Given the description of an element on the screen output the (x, y) to click on. 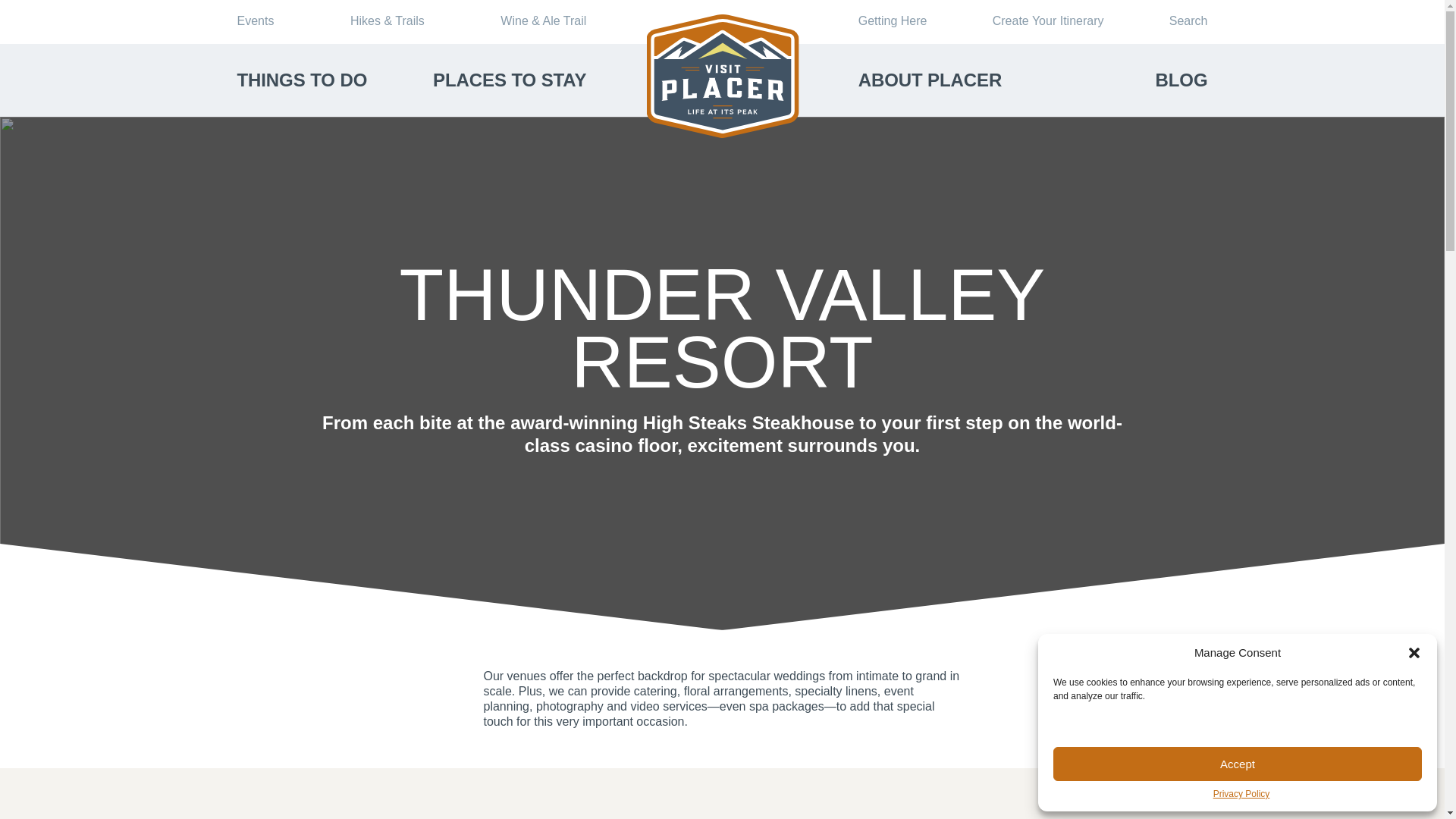
Search (1188, 20)
Create Your Itinerary (1047, 20)
PLACES TO STAY (509, 80)
THINGS TO DO (300, 80)
Accept (1237, 763)
Privacy Policy (1240, 794)
Events (254, 20)
Getting Here (893, 20)
